Given the description of an element on the screen output the (x, y) to click on. 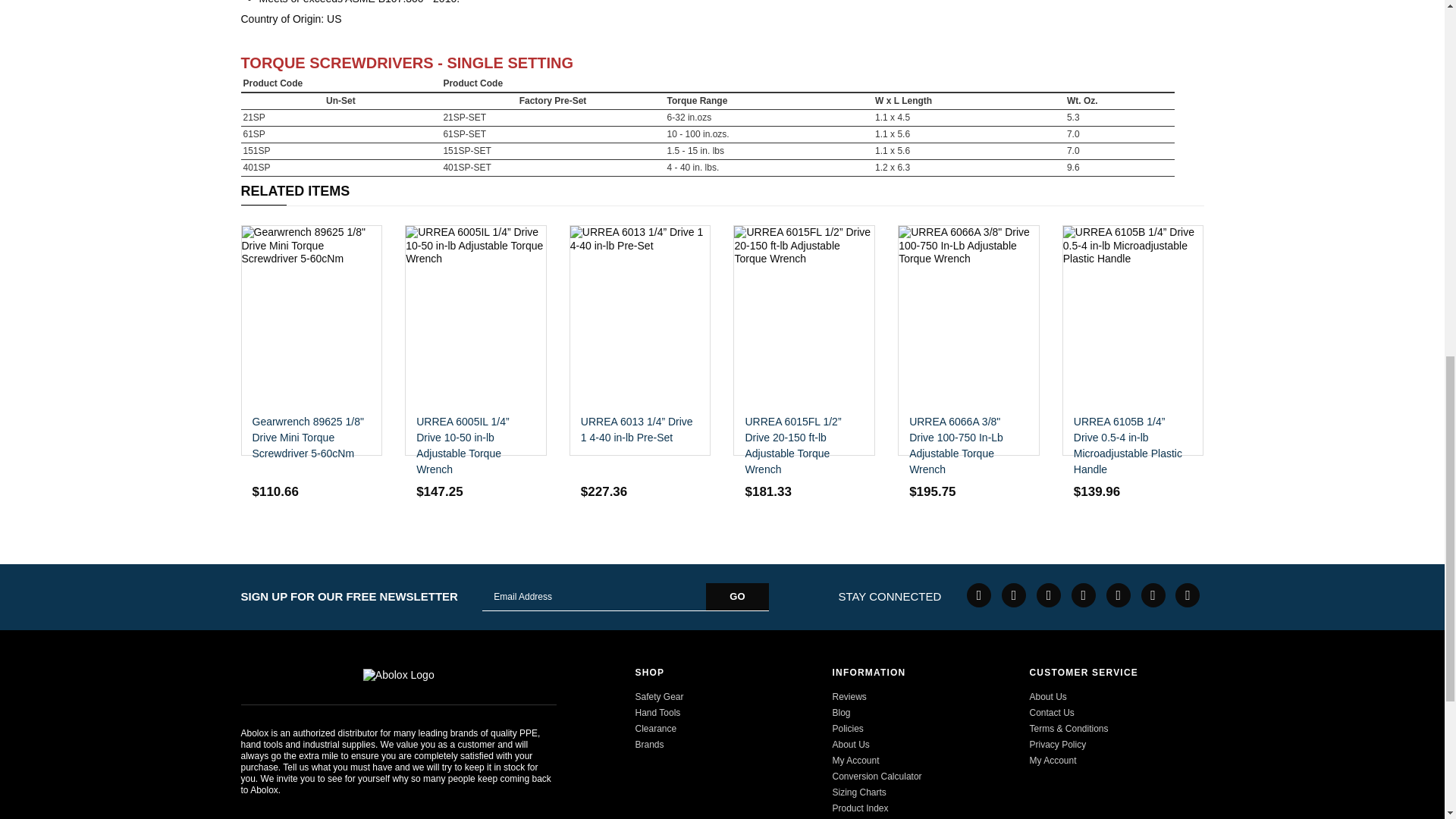
Follow Us on Twitter (1013, 595)
Follow Us on Tumblr (1153, 595)
Subscribe to our Blog (1186, 595)
Subscribe to our Channel (1048, 595)
Like Us on Facebook (978, 595)
Follow Us on Instagram (1118, 595)
Follow Us on Pinterest (1083, 595)
